Given the description of an element on the screen output the (x, y) to click on. 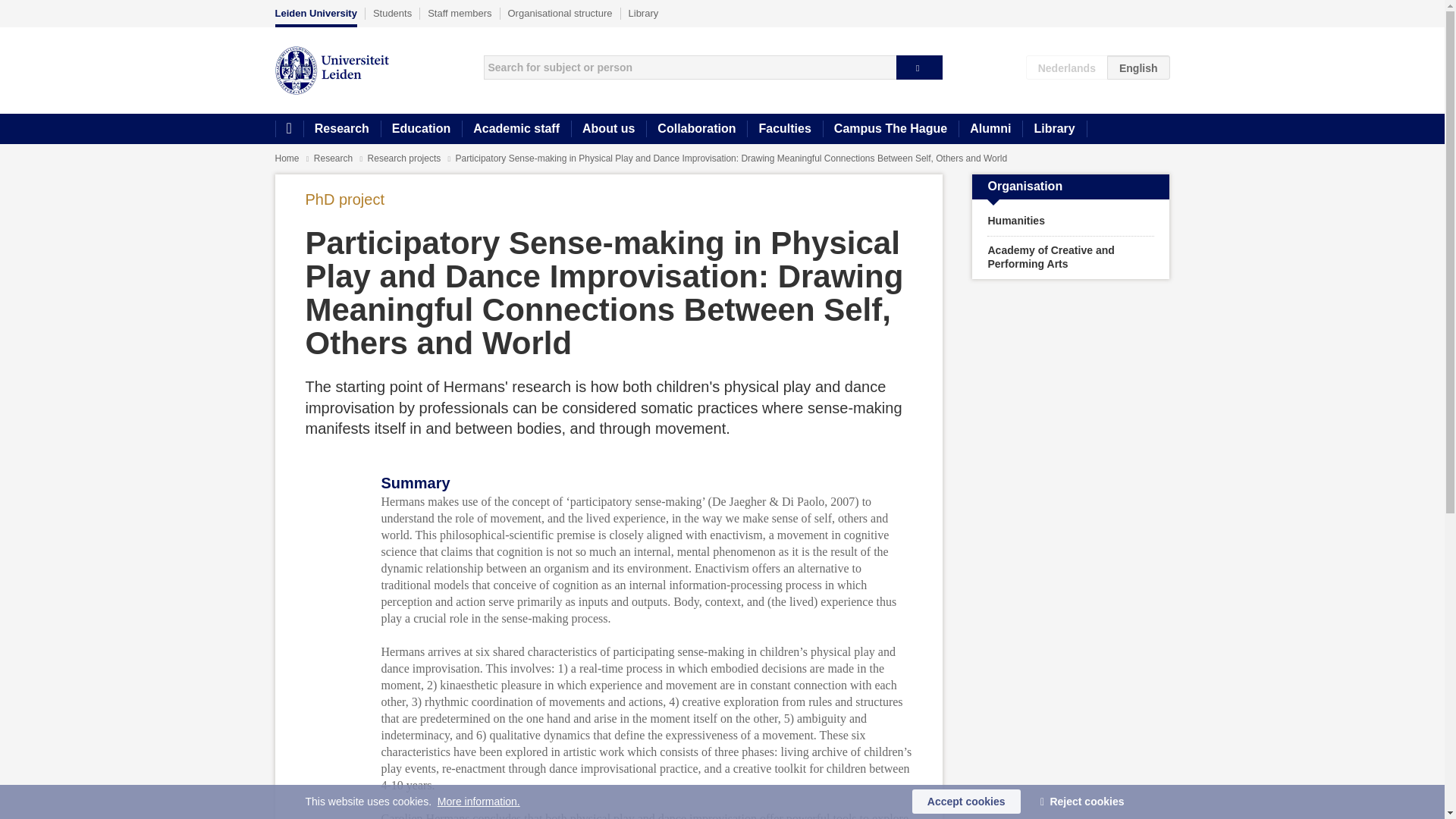
Organisational structure (560, 13)
Home (288, 128)
Students (392, 13)
Research (334, 158)
Leiden University (315, 17)
Academic staff (515, 128)
Academy of Creative and Performing Arts (1070, 257)
Search (919, 67)
Home (286, 158)
Campus The Hague (890, 128)
